Given the description of an element on the screen output the (x, y) to click on. 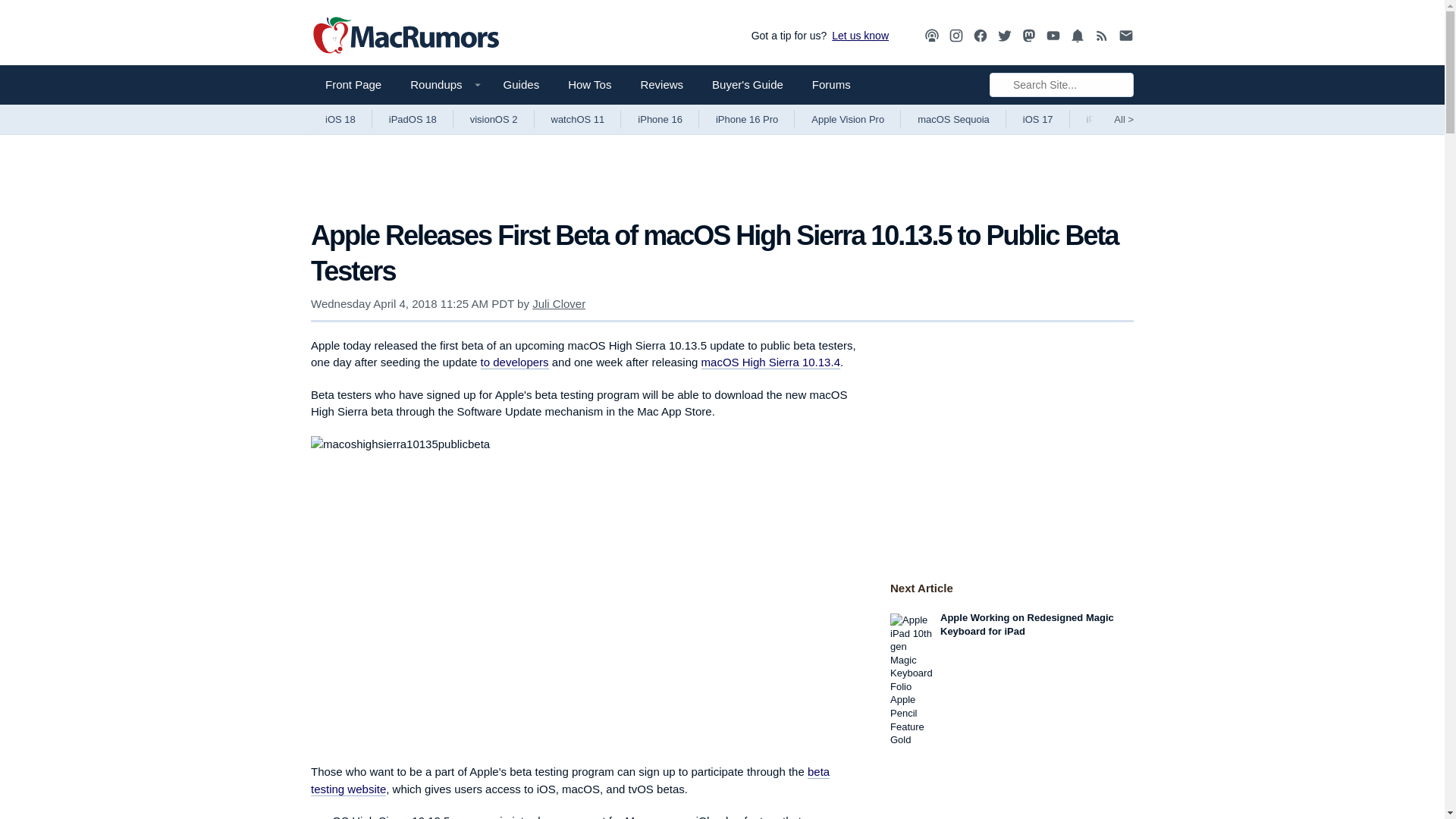
Twitter (1004, 35)
MacRumors Newsletter Signup (1126, 35)
MacRumors Push Notifications (1077, 35)
Forums (830, 84)
Let us know (857, 35)
Reviews (661, 84)
RSS (1101, 35)
MacRumors Show (931, 35)
MacRumors on Instagram (956, 35)
Guides (521, 84)
